Given the description of an element on the screen output the (x, y) to click on. 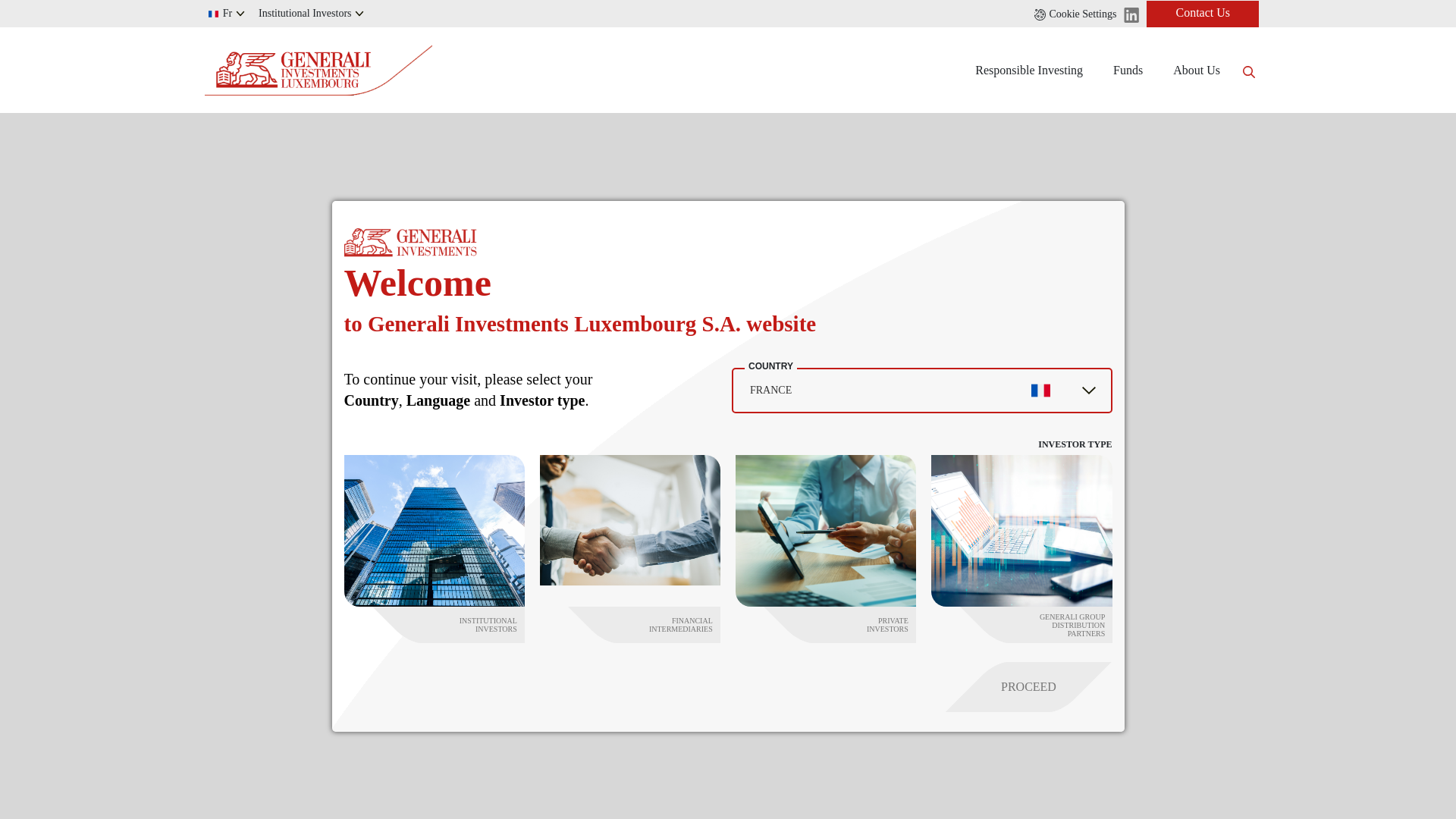
FINANCIAL INTERMEDIARIES (630, 624)
PROCEED (1002, 686)
About Us (1195, 70)
GENERALI GROUP DISTRIBUTION PARTNERS (1022, 624)
INSTITUTIONAL INVESTORS (435, 624)
PRIVATE INVESTORS (825, 624)
Responsible Investing (1028, 70)
Contact Us (1203, 13)
